Given the description of an element on the screen output the (x, y) to click on. 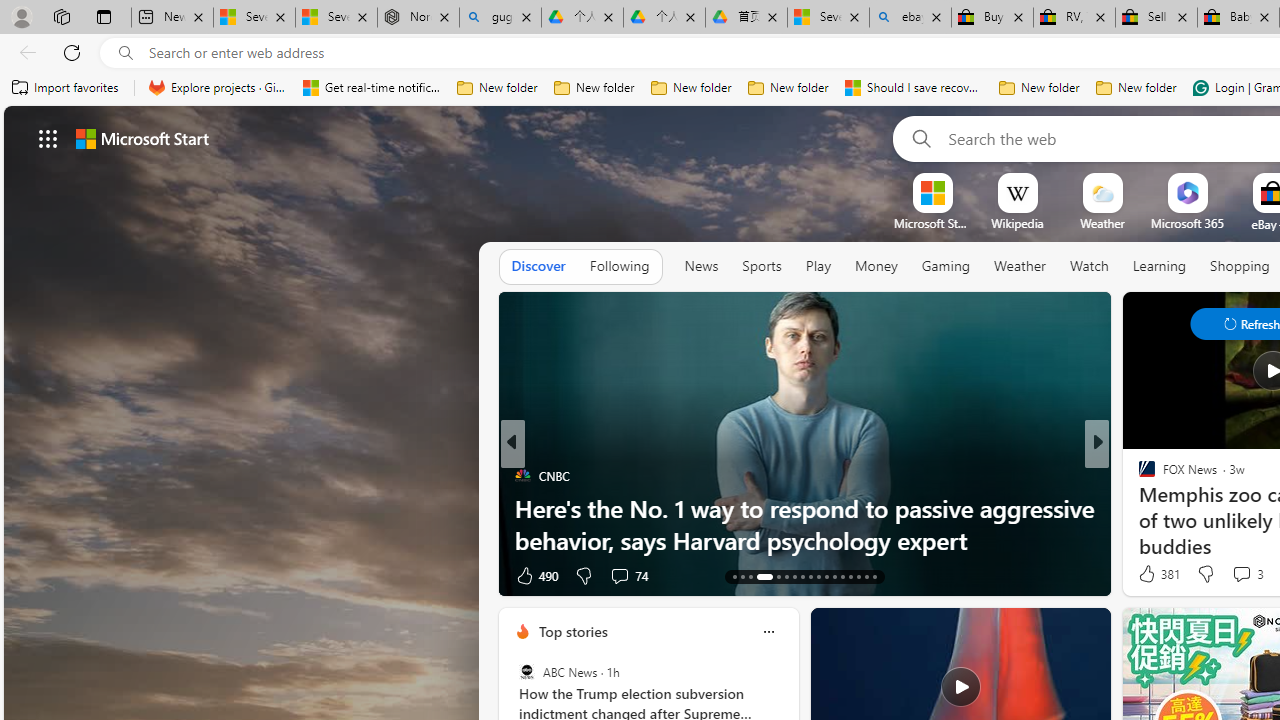
Money (875, 265)
AZ Animals (US) (1138, 507)
AutomationID: tab-29 (874, 576)
CNN (1138, 475)
News (701, 267)
20 Like (1149, 574)
69 Like (1149, 574)
AutomationID: tab-28 (865, 576)
Play (818, 267)
Class: icon-img (768, 632)
Play (817, 265)
View comments 1 Comment (1234, 574)
